Given the description of an element on the screen output the (x, y) to click on. 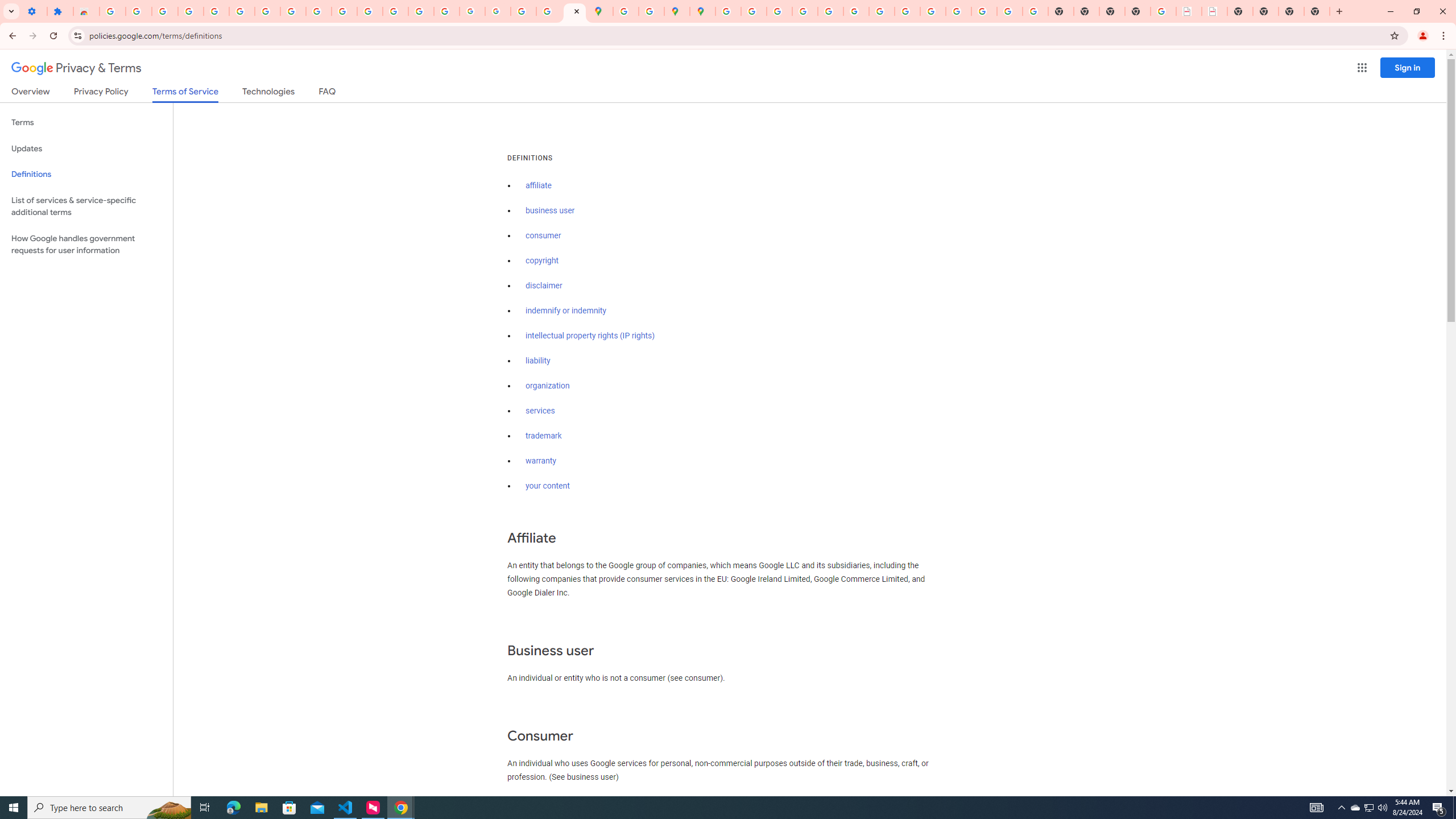
your content (547, 486)
New Tab (1316, 11)
trademark (543, 435)
